Given the description of an element on the screen output the (x, y) to click on. 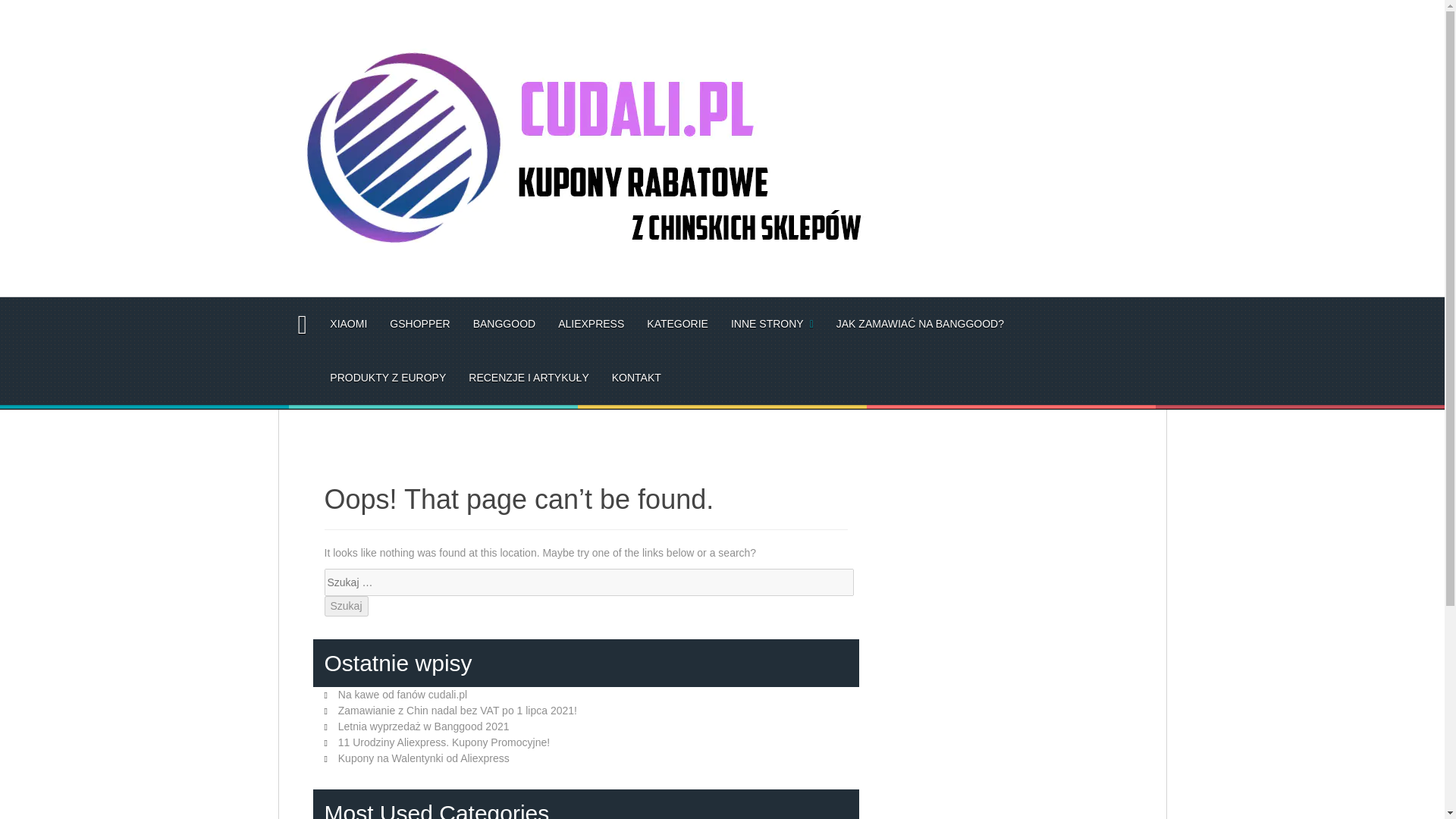
KONTAKT (636, 377)
GSHOPPER (419, 324)
Kupony na Walentynki od Aliexpress (423, 758)
Szukaj (346, 606)
Zamawianie z Chin nadal bez VAT po 1 lipca 2021! (456, 710)
INNE STRONY (771, 324)
Szukaj (346, 606)
Szukaj (346, 606)
ALIEXPRESS (590, 324)
11 Urodziny Aliexpress. Kupony Promocyjne! (443, 742)
